Given the description of an element on the screen output the (x, y) to click on. 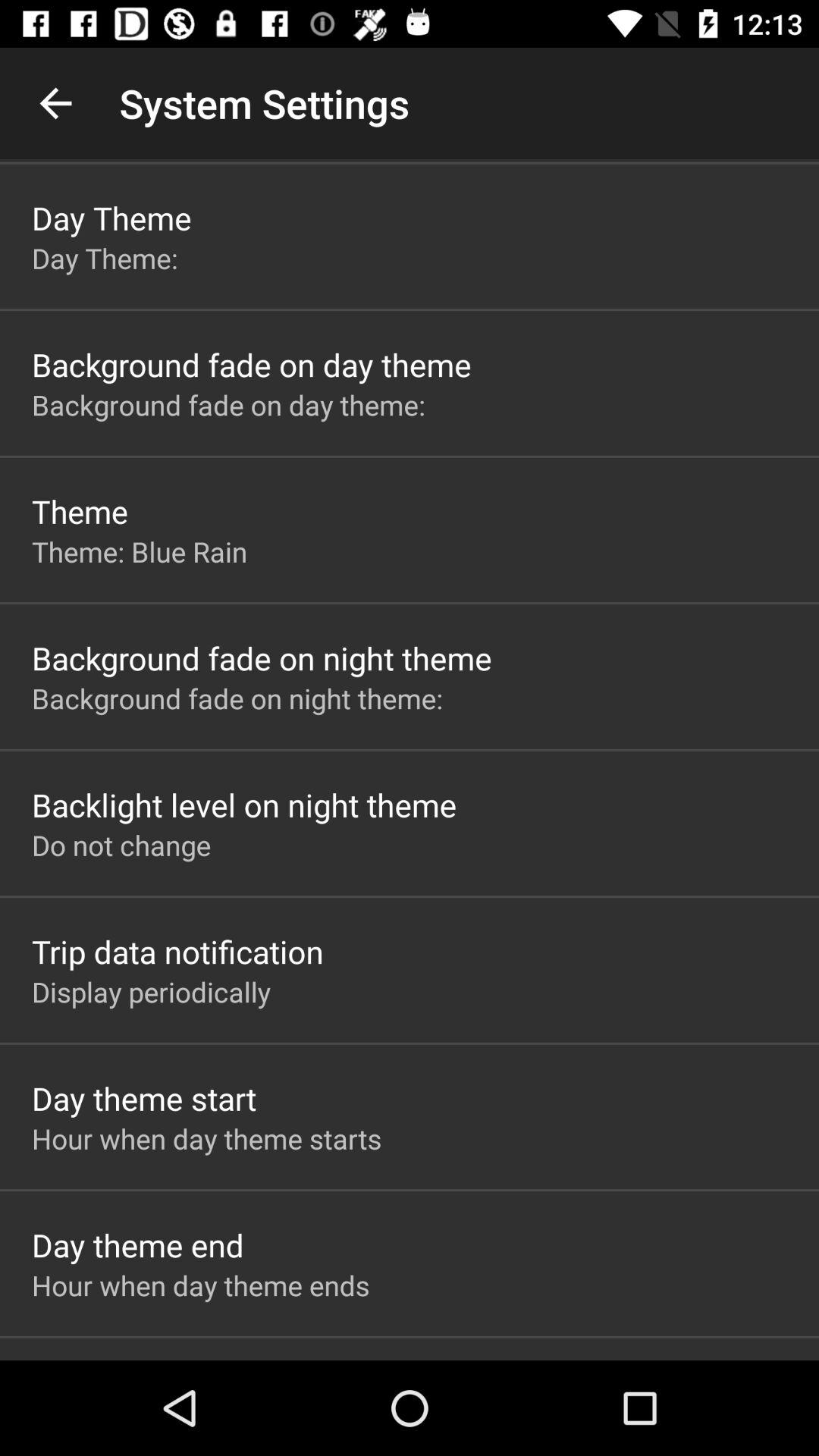
turn off item below the trip data notification (150, 991)
